Given the description of an element on the screen output the (x, y) to click on. 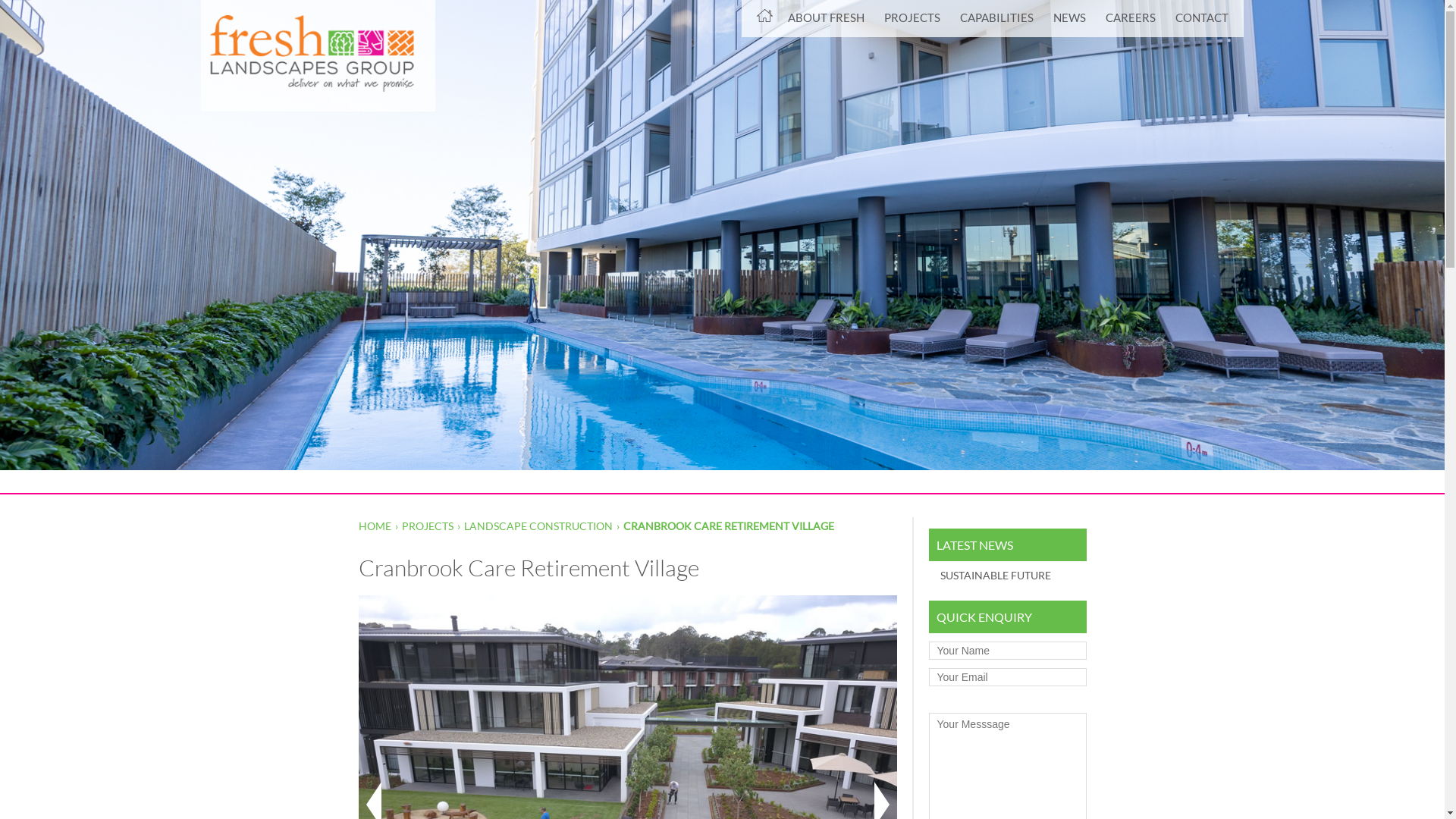
ABOUT FRESH Element type: text (826, 18)
HOME Element type: text (764, 18)
CAPABILITIES Element type: text (996, 18)
HOME Element type: text (373, 525)
PROJECTS Element type: text (912, 18)
NEWS Element type: text (1069, 18)
CAREERS Element type: text (1130, 18)
CONTACT Element type: text (1201, 18)
LANDSCAPE CONSTRUCTION Element type: text (538, 525)
PROJECTS Element type: text (427, 525)
SUSTAINABLE FUTURE Element type: text (1006, 575)
